Given the description of an element on the screen output the (x, y) to click on. 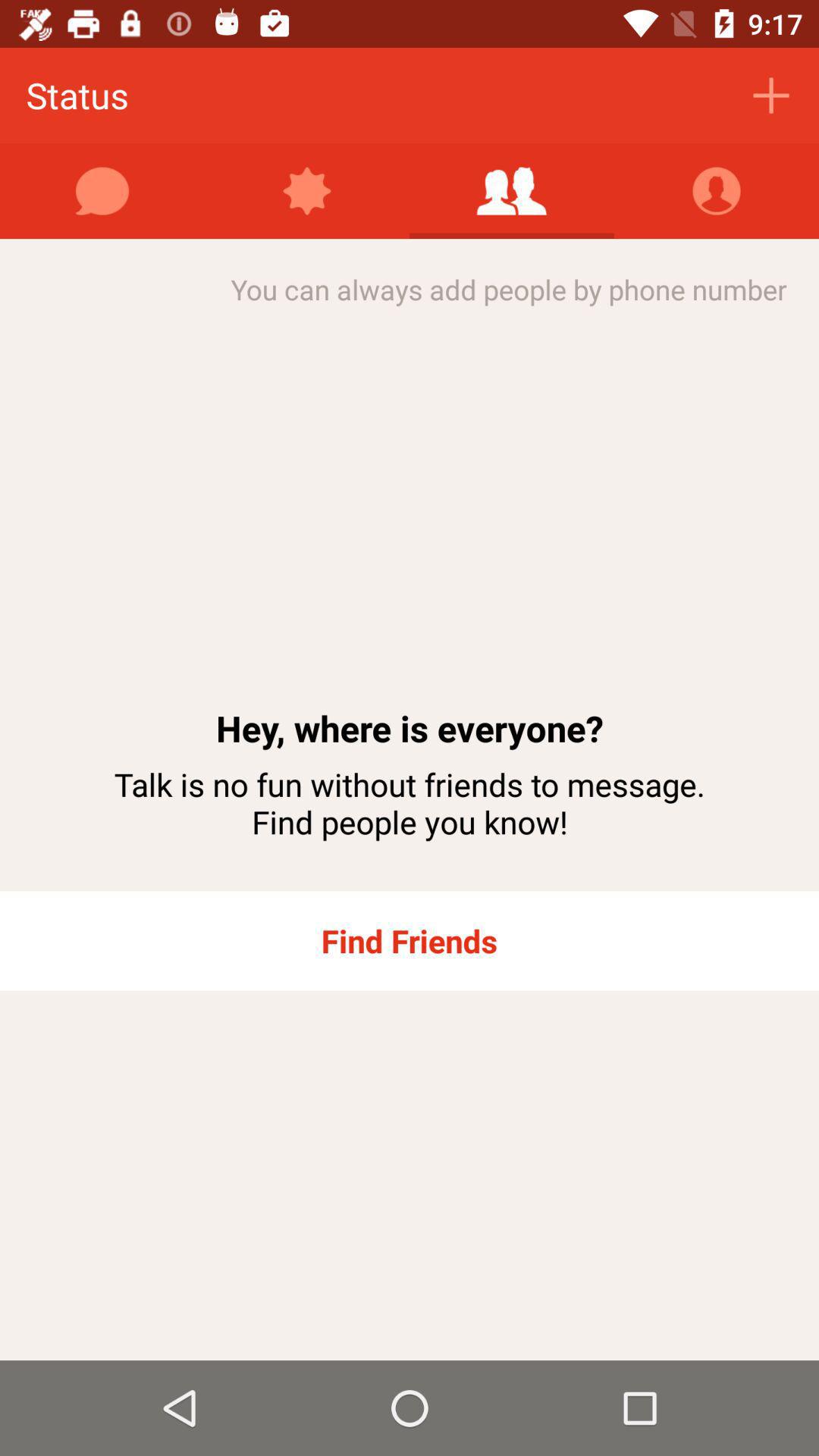
select icon above the you can always icon (511, 190)
